Given the description of an element on the screen output the (x, y) to click on. 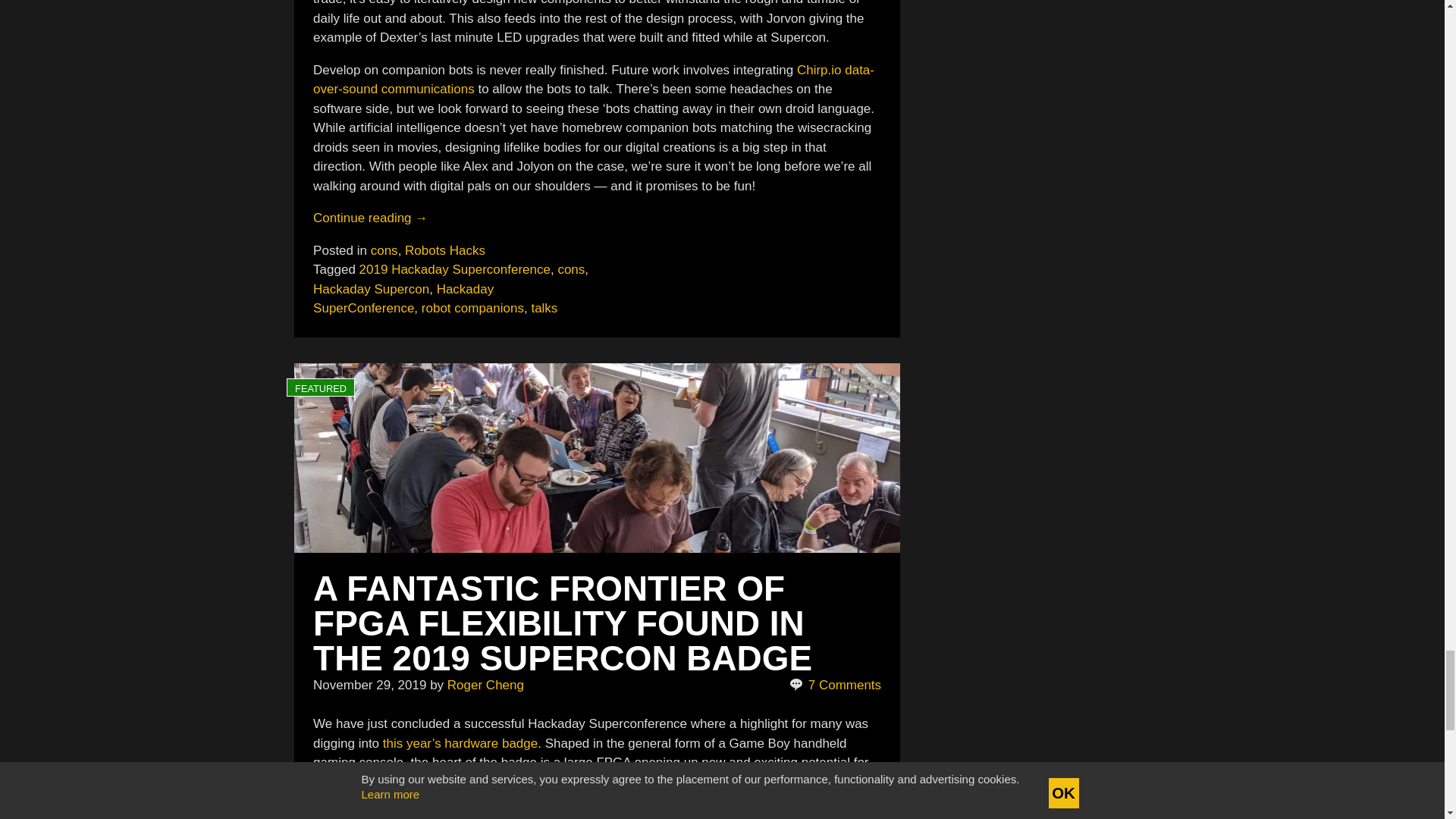
November 29, 2019 - 7:01 am (369, 685)
